Given the description of an element on the screen output the (x, y) to click on. 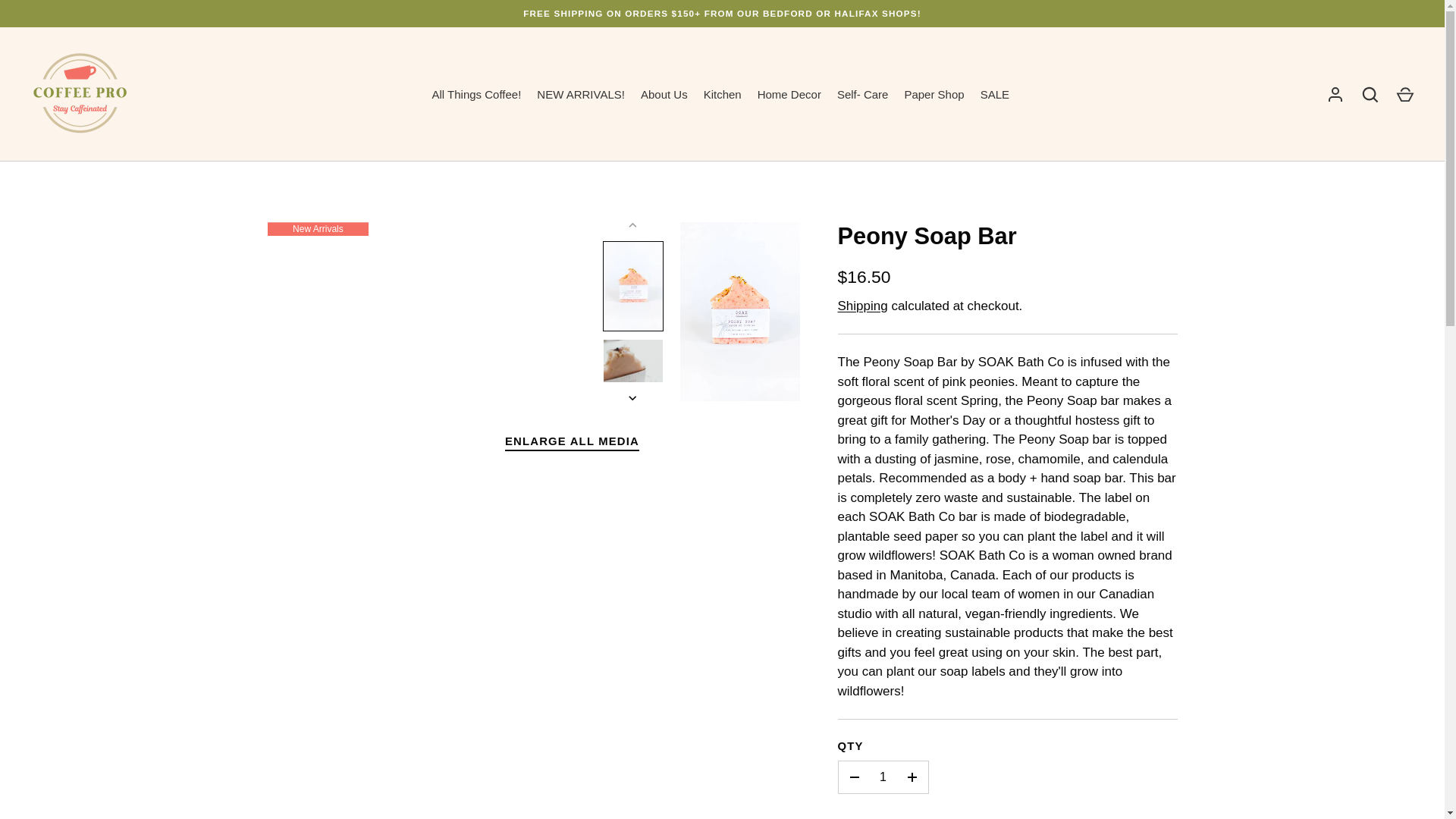
Paper Shop (934, 95)
Self- Care (862, 95)
About Us (663, 95)
Kitchen (722, 95)
All Things Coffee! (476, 95)
SALE (994, 95)
NEW ARRIVALS! (581, 95)
1 (883, 777)
Home Decor (788, 95)
